Given the description of an element on the screen output the (x, y) to click on. 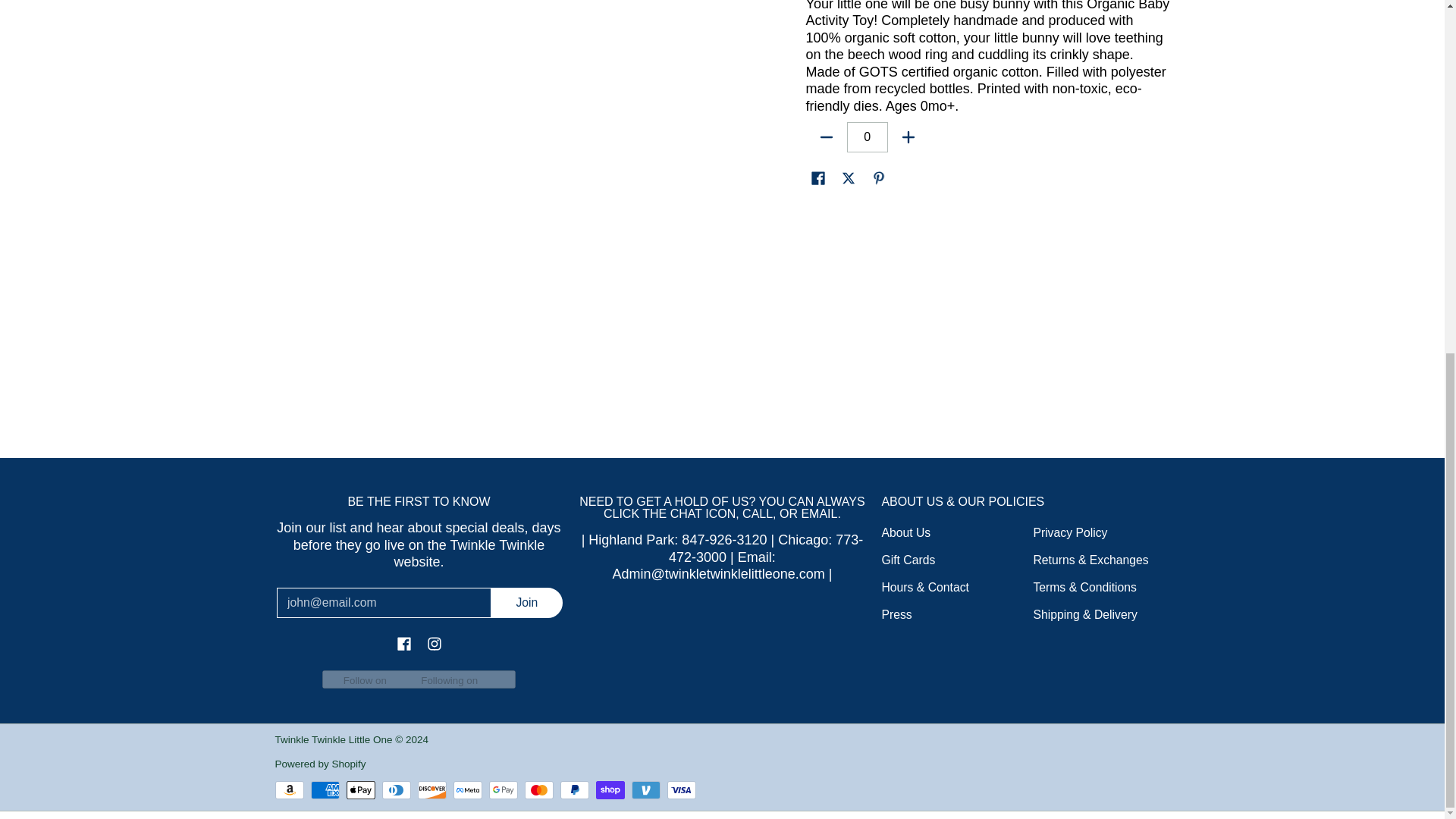
Meta Pay (466, 790)
Amazon (288, 790)
Discover (431, 790)
Apple Pay (360, 790)
Diners Club (395, 790)
0 (867, 137)
American Express (325, 790)
